Given the description of an element on the screen output the (x, y) to click on. 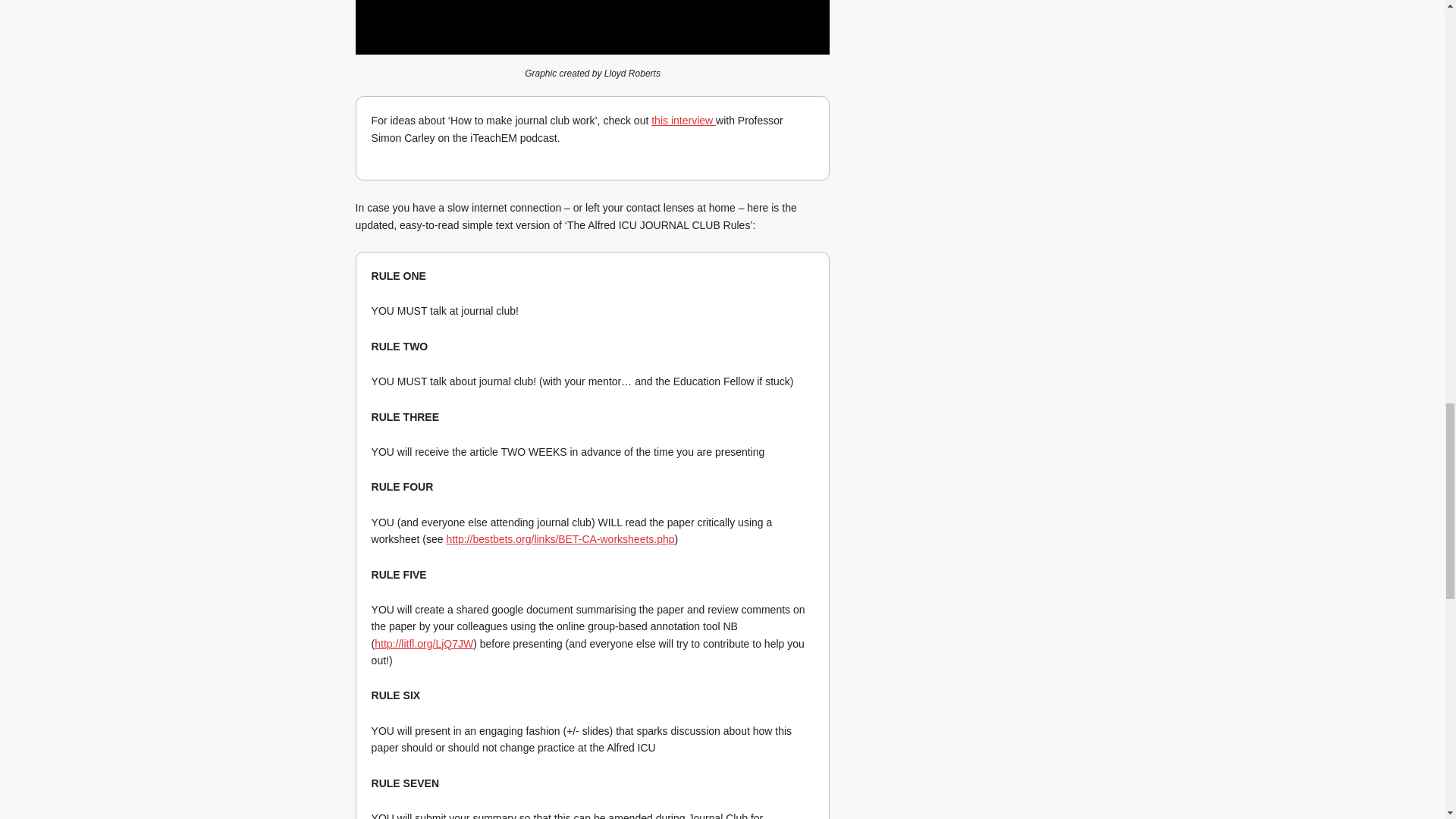
this interview (683, 120)
